Given the description of an element on the screen output the (x, y) to click on. 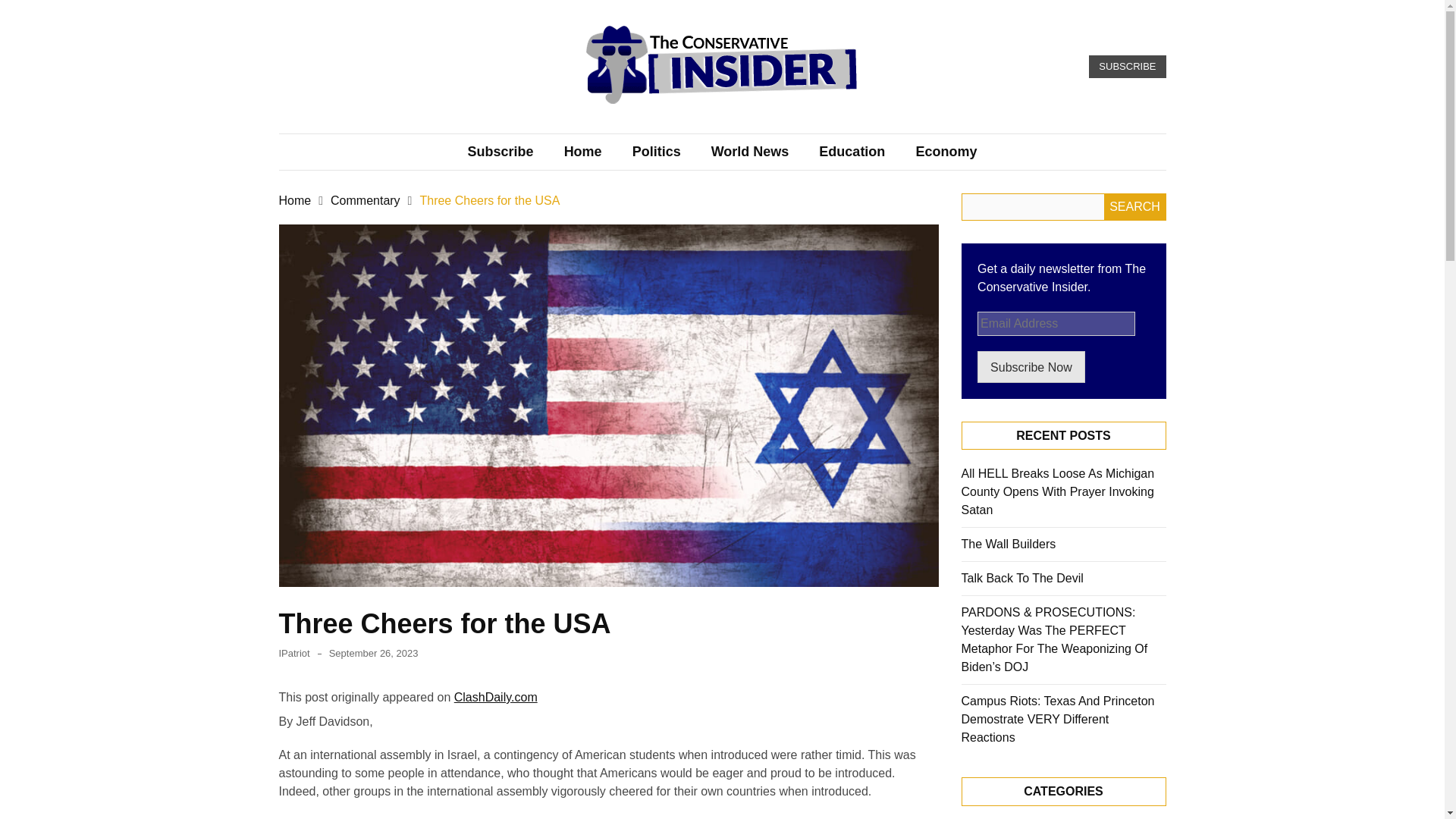
The Conservative Insider (668, 126)
Commentary (365, 200)
Economy (945, 151)
Home (295, 200)
Subscribe (500, 151)
Education (851, 151)
Politics (656, 151)
World News (750, 151)
Home (582, 151)
ClashDaily.com (495, 697)
